Given the description of an element on the screen output the (x, y) to click on. 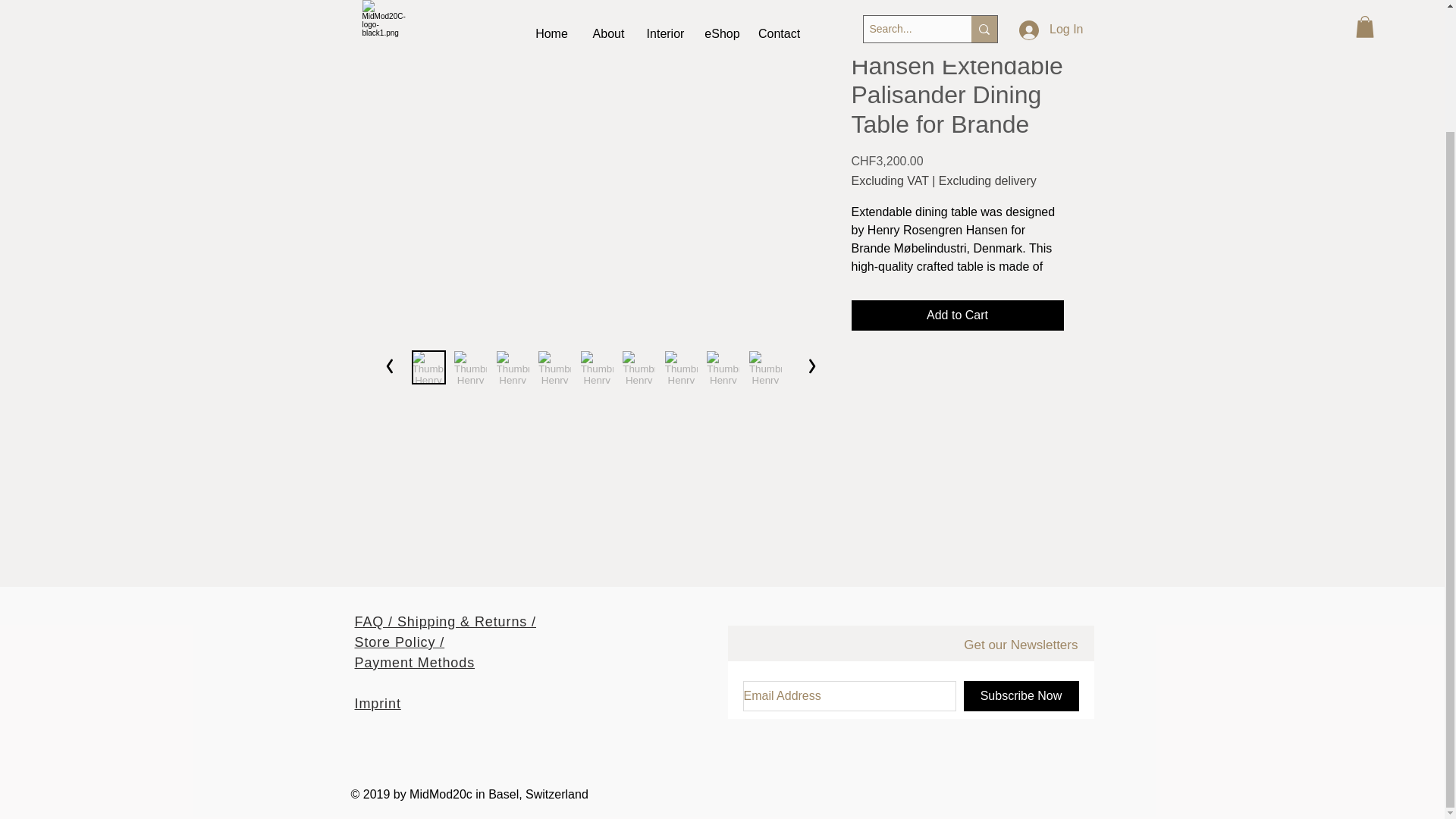
Imprint (378, 703)
Add to Cart (956, 315)
Excluding delivery (987, 181)
